Given the description of an element on the screen output the (x, y) to click on. 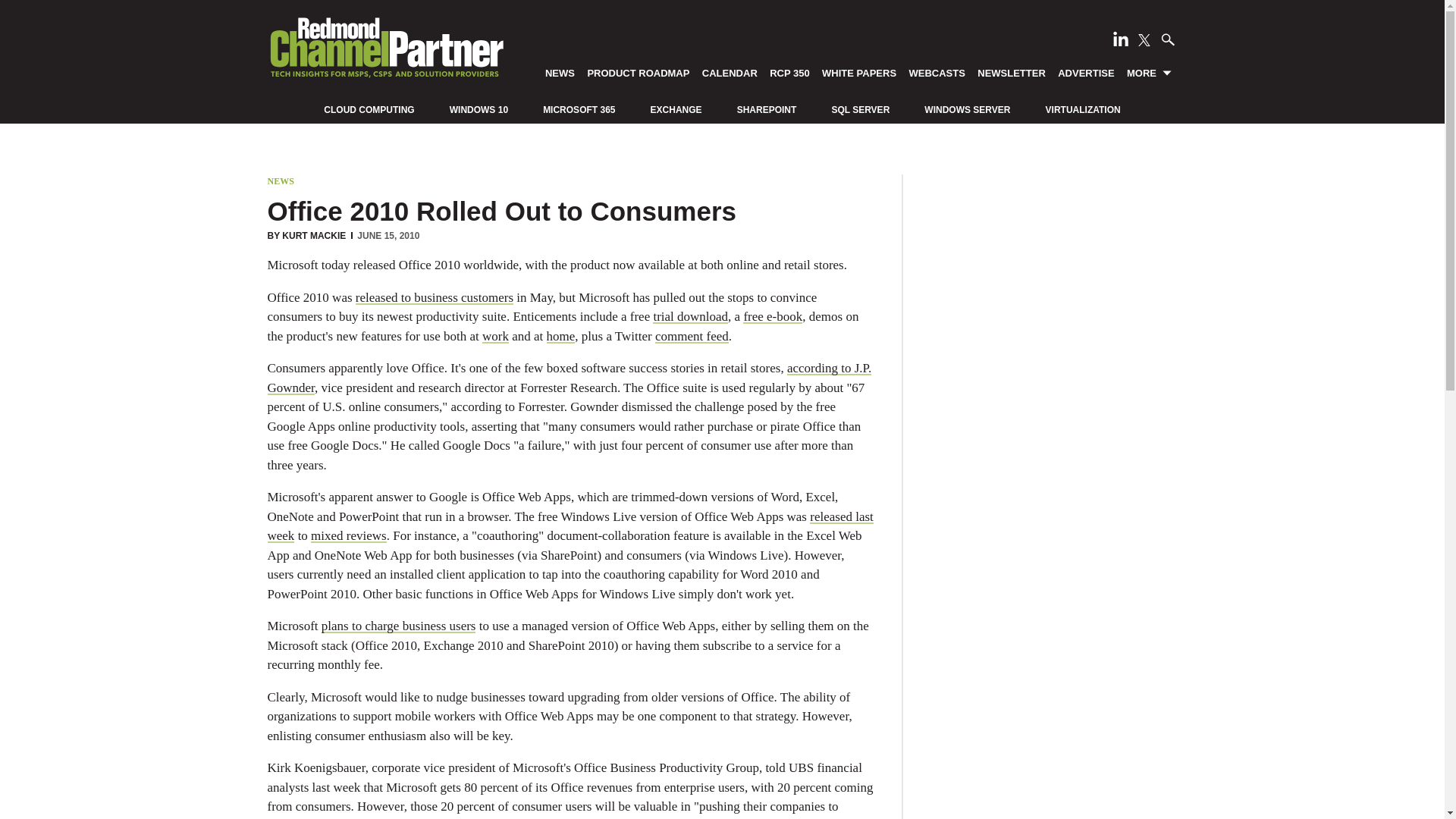
MICROSOFT 365 (578, 109)
NEWSLETTER (1011, 72)
released to business customers (434, 297)
MORE (1149, 72)
WINDOWS SERVER (967, 109)
NEWS (280, 181)
trial download (690, 316)
EXCHANGE (675, 109)
WHITE PAPERS (858, 72)
ADVERTISE (1085, 72)
free e-book (772, 316)
CALENDAR (729, 72)
WEBCASTS (936, 72)
RCP 350 (790, 72)
SQL SERVER (860, 109)
